Given the description of an element on the screen output the (x, y) to click on. 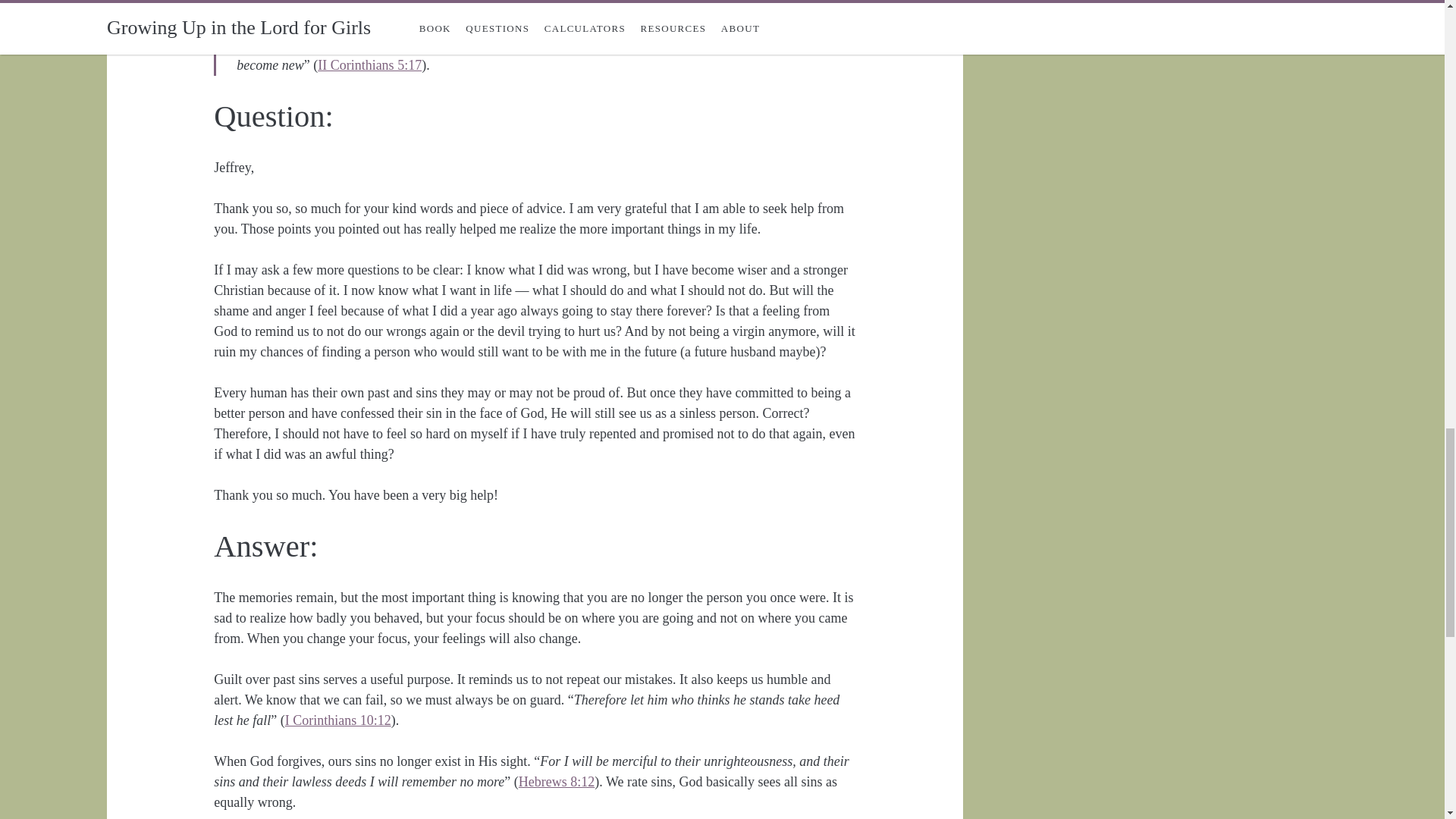
I Corinthians 10:12 (338, 720)
II Corinthians 7:10-11 (522, 5)
II Corinthians 5:17 (369, 64)
Hebrews 8:12 (556, 781)
